Given the description of an element on the screen output the (x, y) to click on. 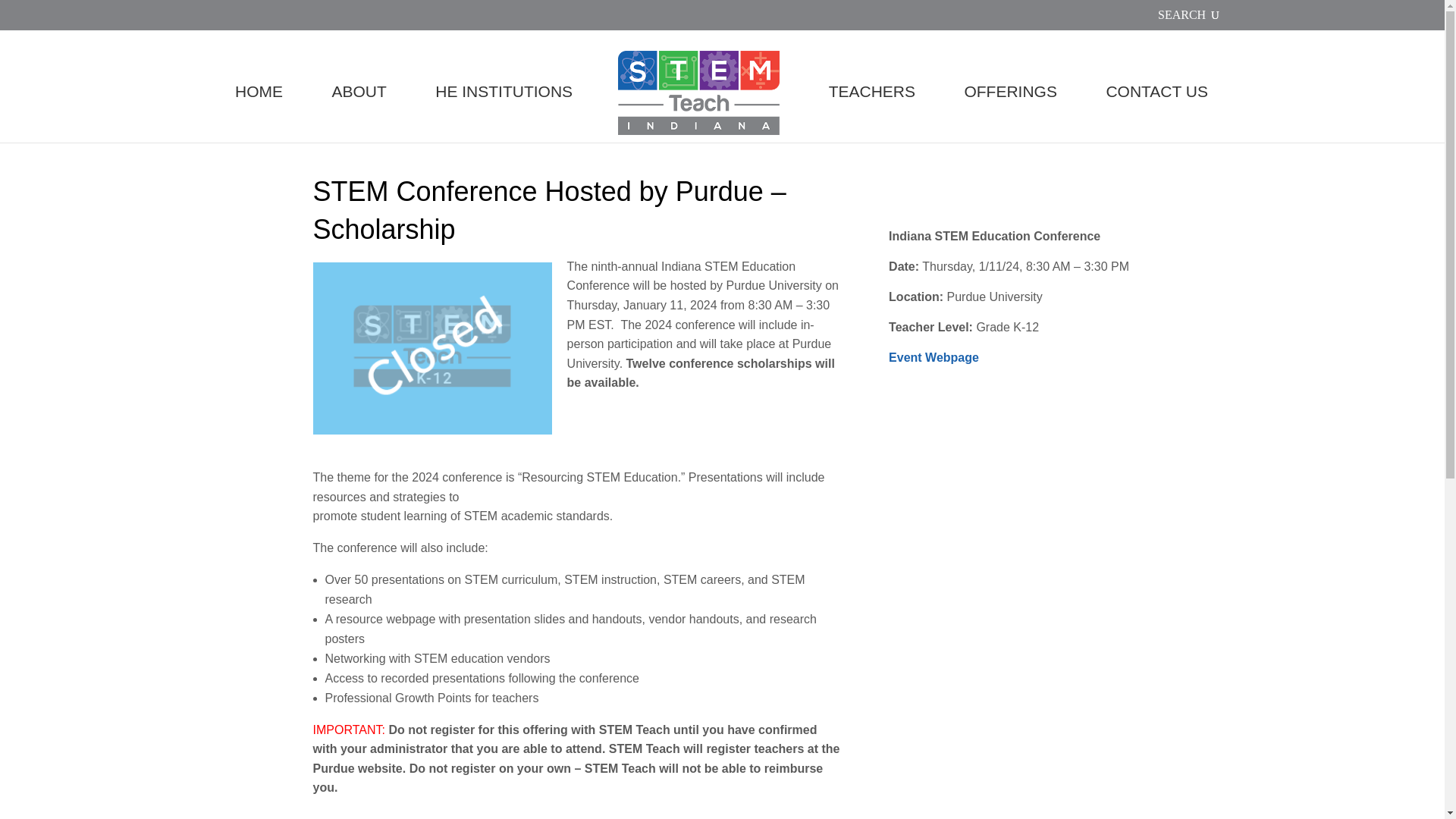
Event Webpage (933, 357)
OFFERINGS (1010, 114)
CONTACT US (1156, 114)
HE INSTITUTIONS (504, 114)
Light Blue K-12 Closed (432, 348)
HOME (258, 114)
ABOUT (358, 114)
TEACHERS (871, 114)
